Given the description of an element on the screen output the (x, y) to click on. 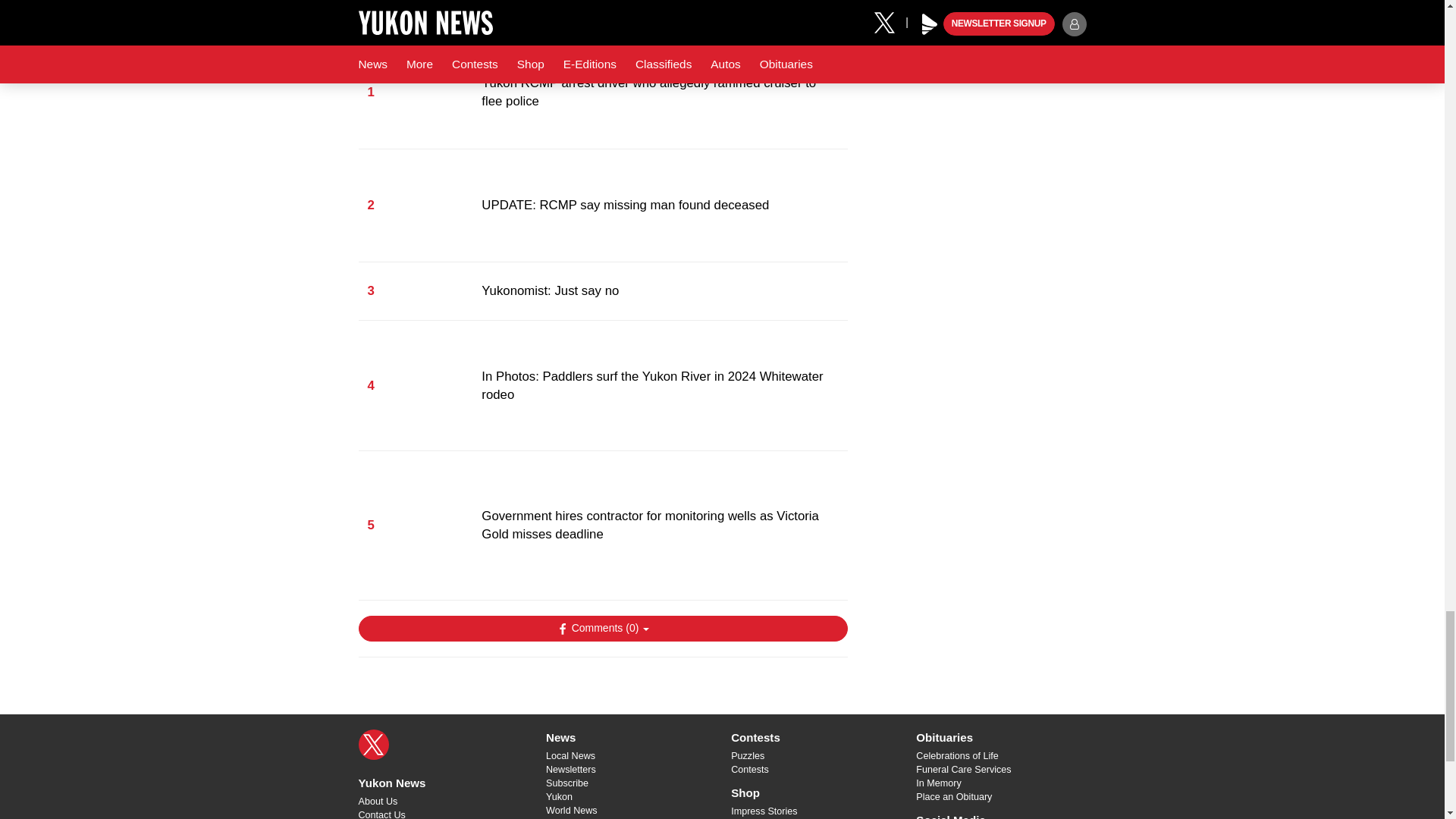
X (373, 744)
Show Comments (602, 628)
